Given the description of an element on the screen output the (x, y) to click on. 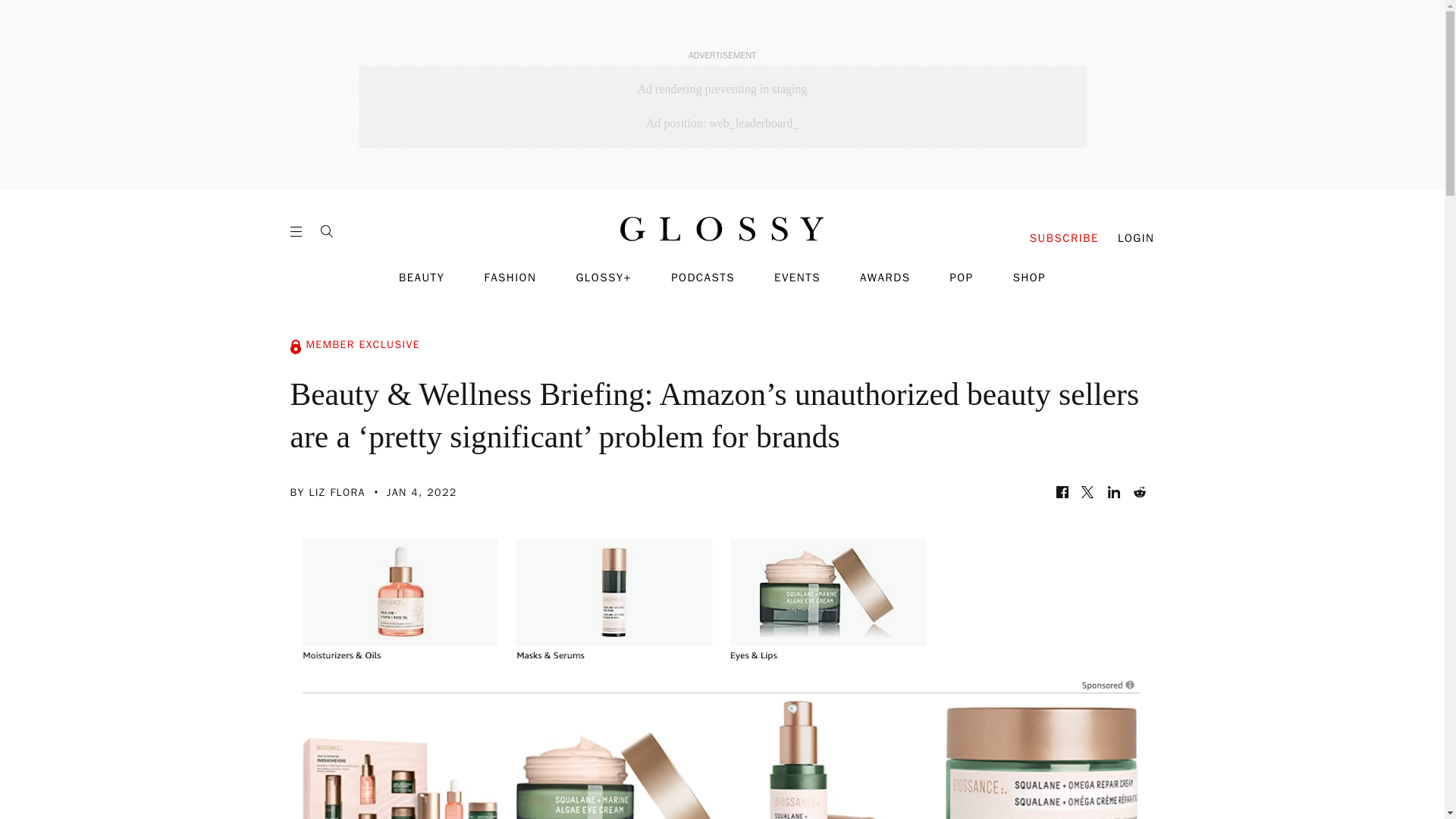
LOGIN (1136, 238)
AWARDS (885, 277)
SHOP (1029, 277)
POP (960, 277)
BEAUTY (421, 277)
FASHION (509, 277)
SUBSCRIBE (1064, 238)
EVENTS (797, 277)
PODCASTS (703, 277)
